Given the description of an element on the screen output the (x, y) to click on. 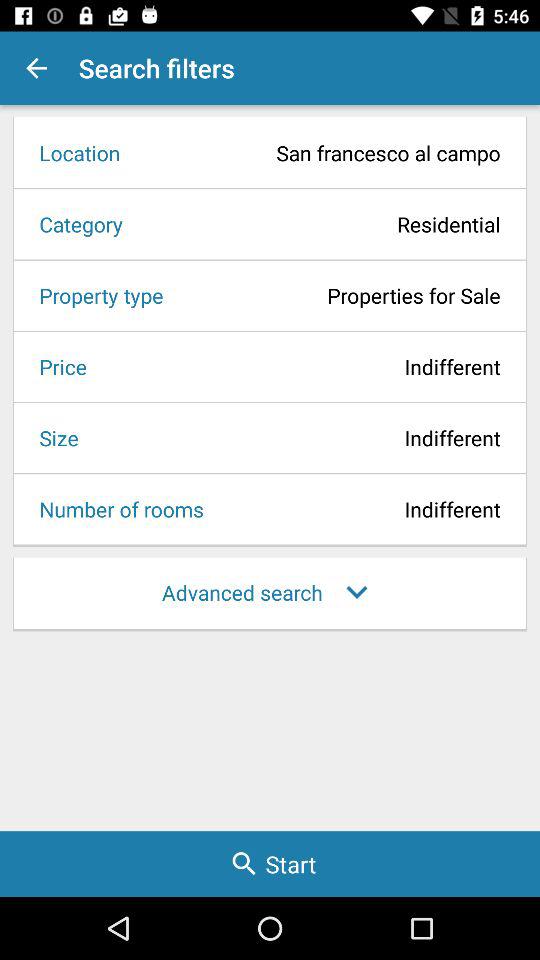
tap the icon to the right of location item (316, 152)
